Given the description of an element on the screen output the (x, y) to click on. 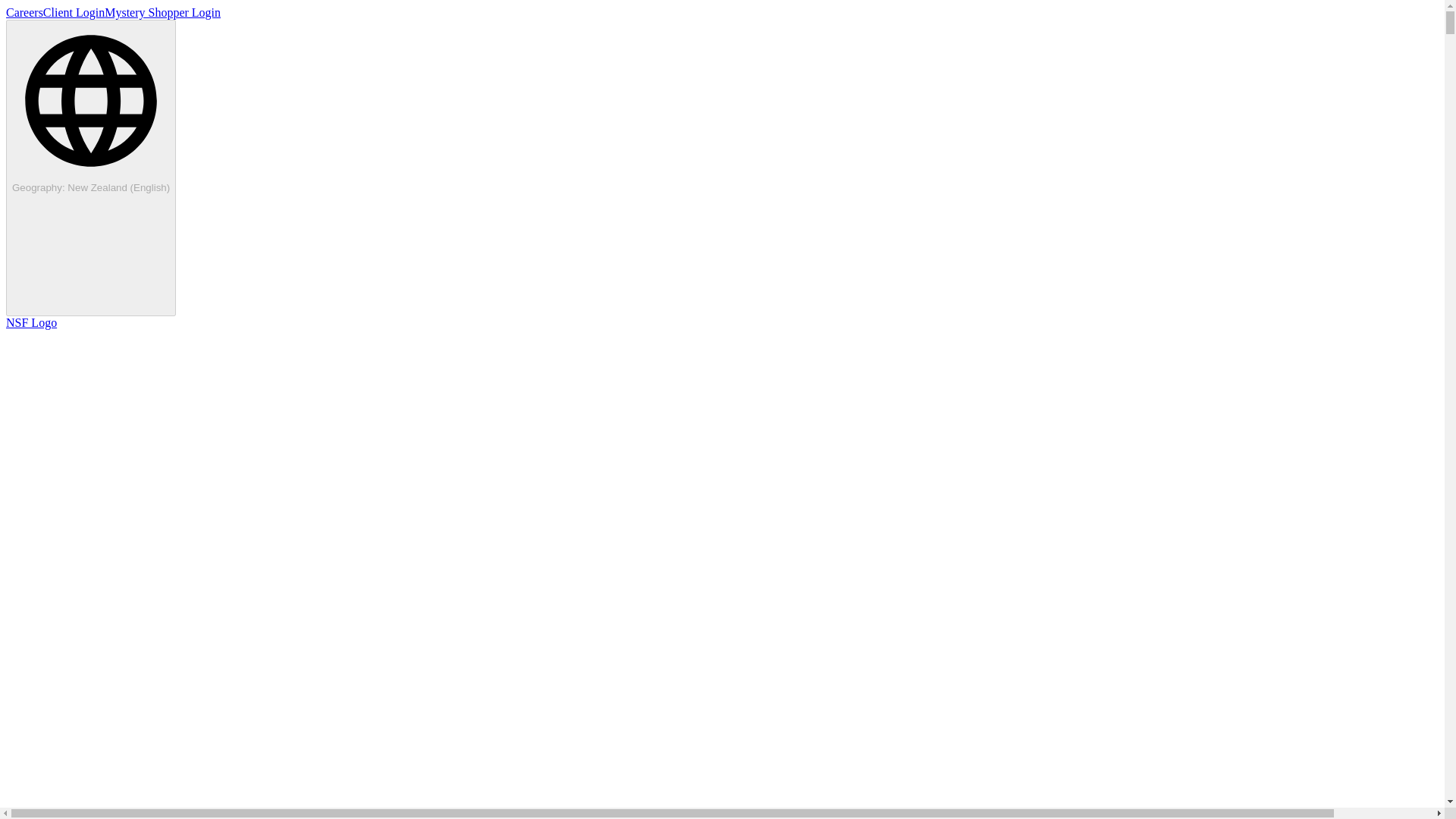
Careers (24, 11)
Mystery Shopper Login (162, 11)
Client Login (73, 11)
